Given the description of an element on the screen output the (x, y) to click on. 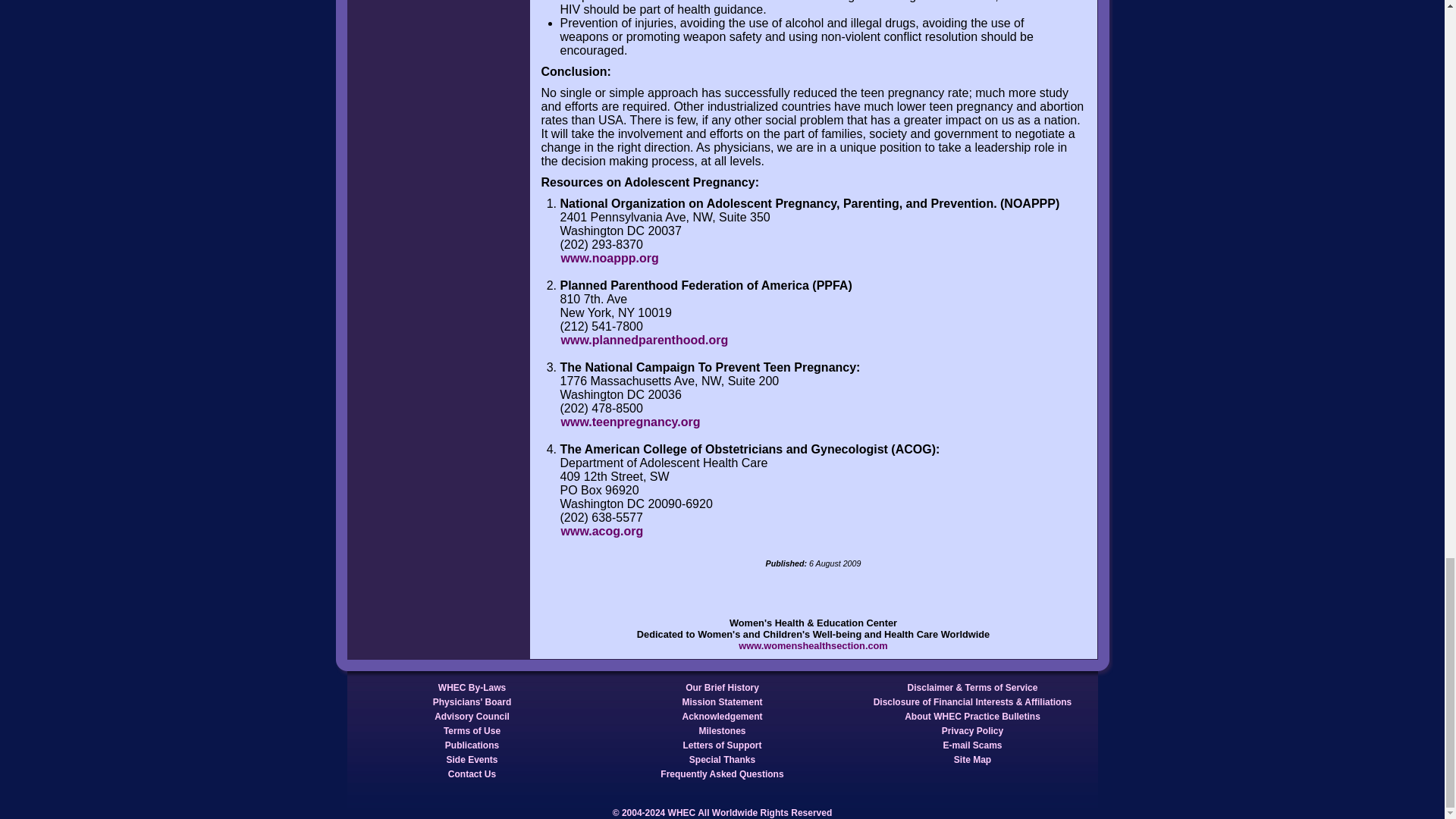
Publications (471, 745)
Mission Statement (721, 702)
Terms of Use (471, 730)
Physicians' Board (472, 702)
www.acog.org (601, 531)
www.noappp.org (609, 257)
Side Events (471, 759)
www.plannedparenthood.org (644, 339)
www.womenshealthsection.com (813, 645)
Contact Us (471, 774)
Our Brief History (722, 687)
Advisory Council (472, 716)
Acknowledgement (721, 716)
www.teenpregnancy.org (629, 421)
WHEC By-Laws (472, 687)
